Given the description of an element on the screen output the (x, y) to click on. 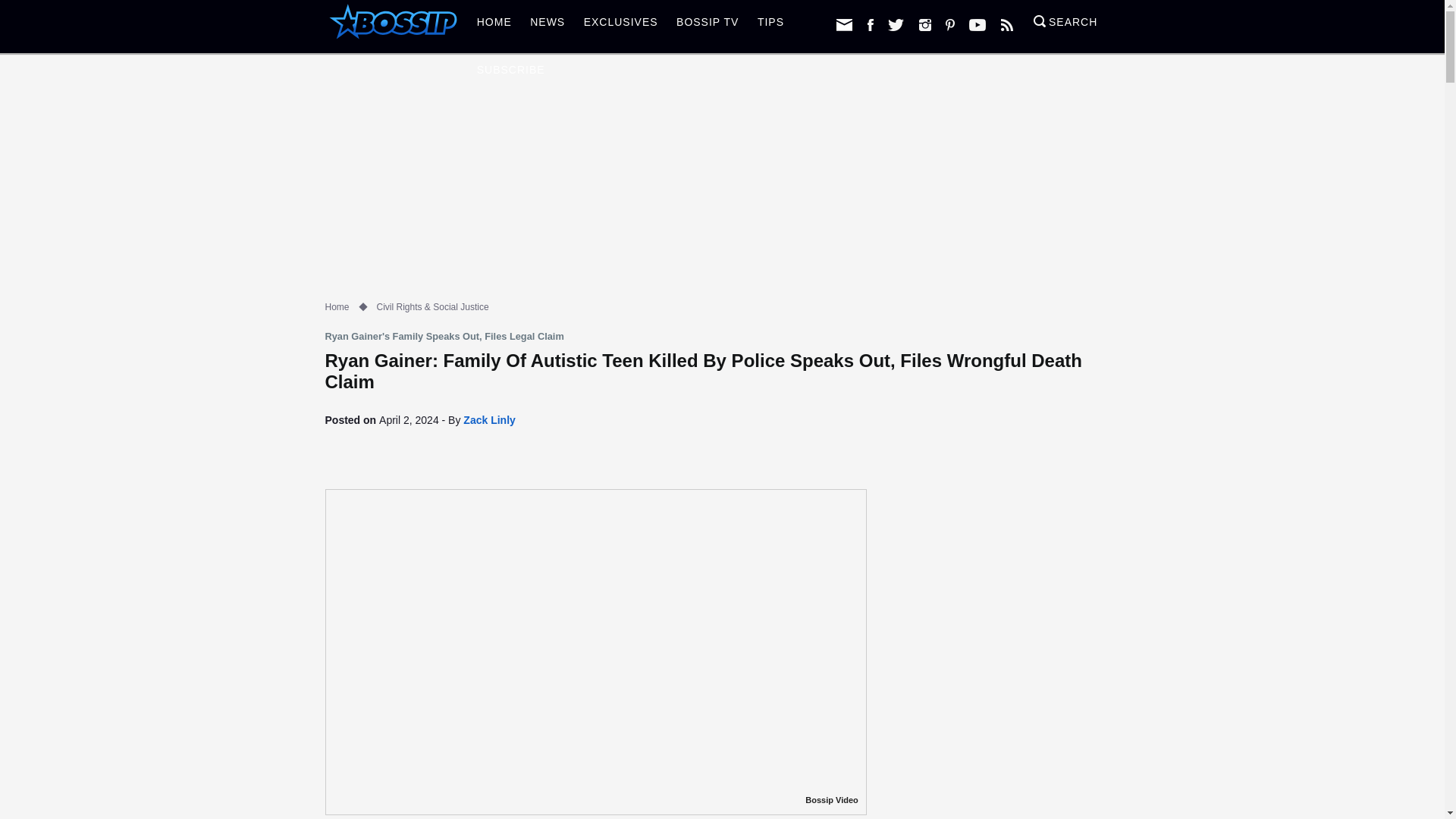
Posts by Zack Linly (489, 419)
Subscribe to Bossip on YouTube (977, 24)
BOSSIP TV (706, 26)
newsletter (843, 24)
NEWS (547, 26)
youtube (977, 24)
Follow Bossip with RSS (1007, 24)
Zack Linly (489, 419)
EXCLUSIVES (620, 26)
Follow Bossip on Instagram (924, 24)
